Given the description of an element on the screen output the (x, y) to click on. 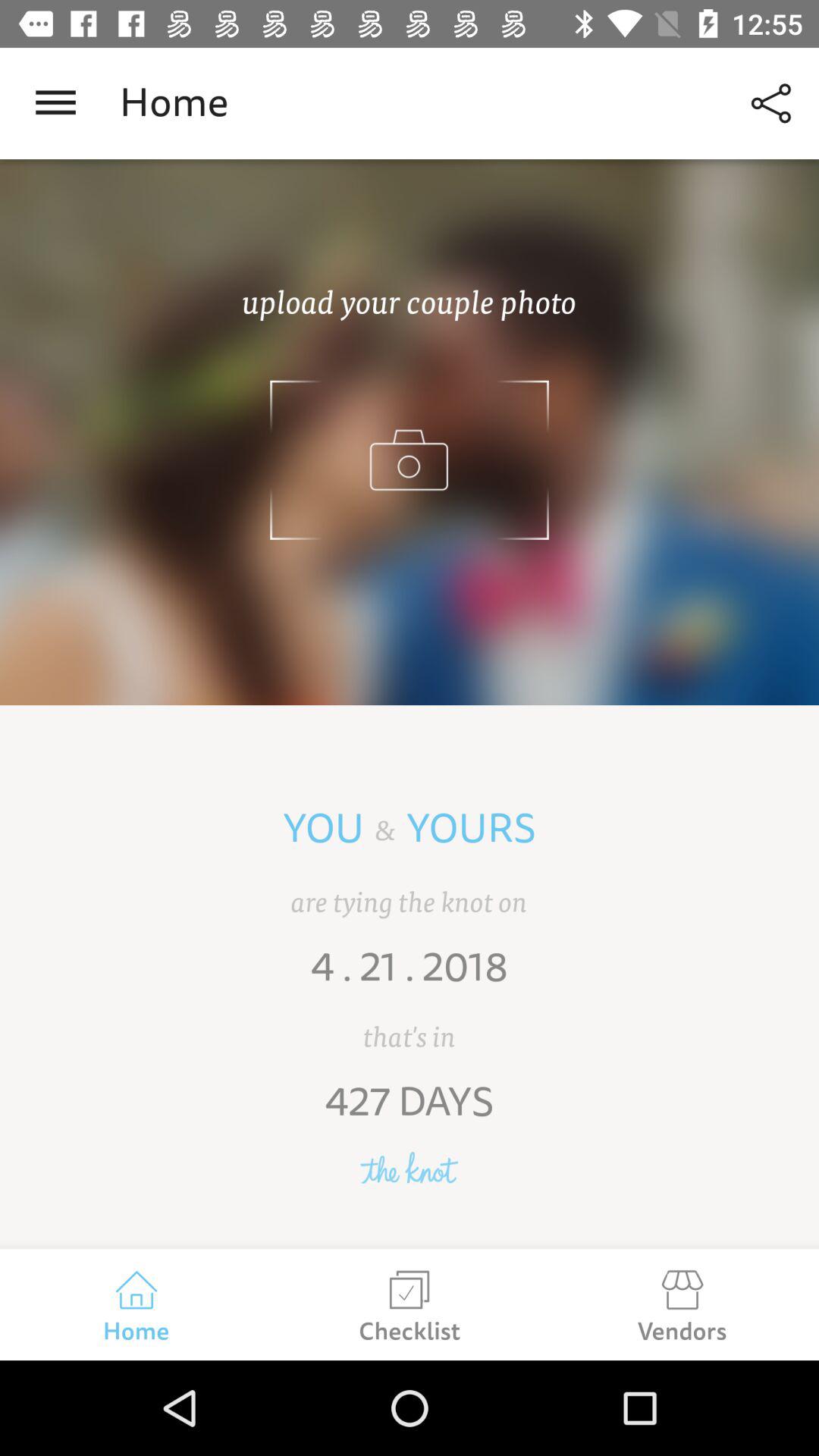
open a menu (55, 103)
